Given the description of an element on the screen output the (x, y) to click on. 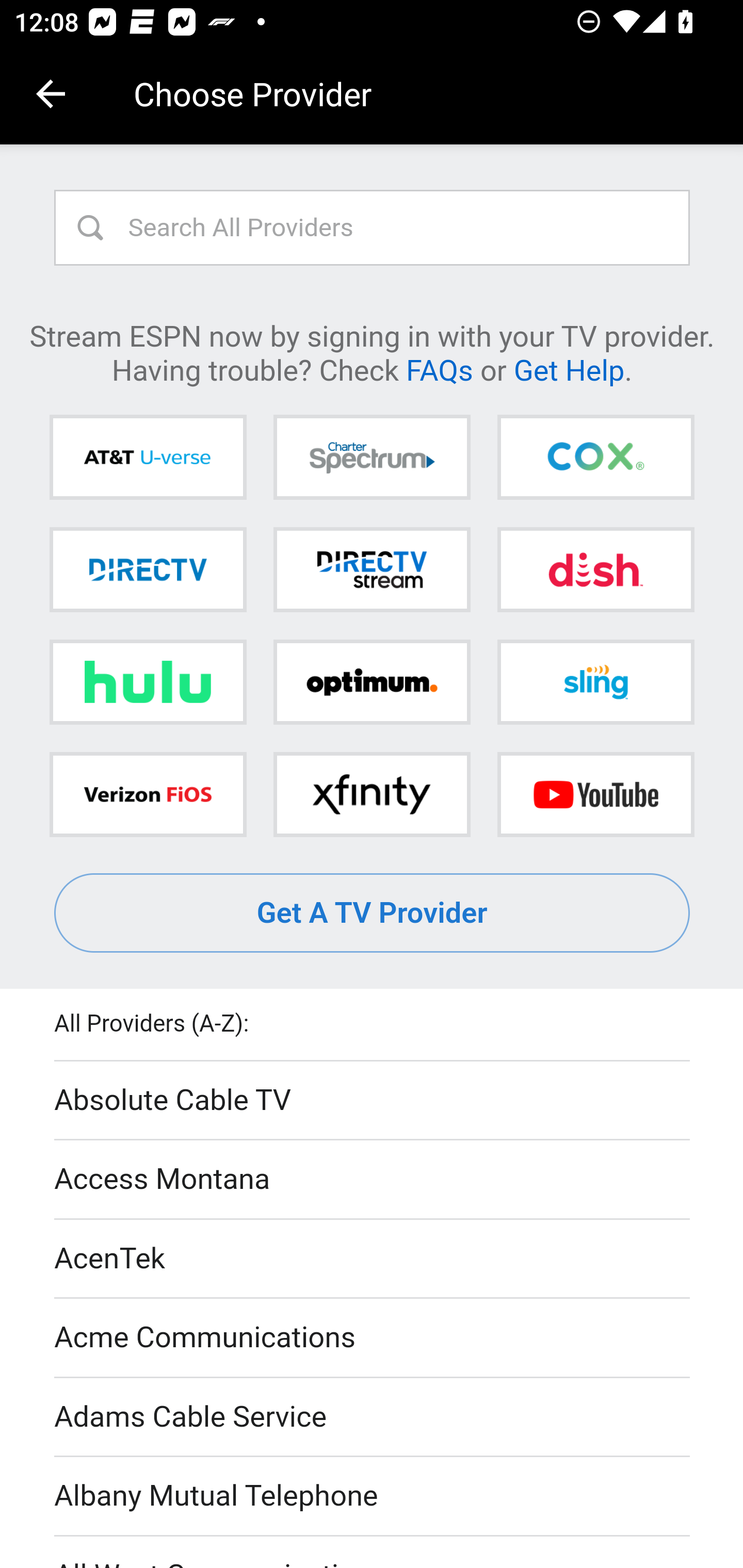
Navigate up (50, 93)
FAQs (438, 369)
Get Help (569, 369)
AT&T U-verse (147, 457)
Charter Spectrum (371, 457)
Cox (595, 457)
DIRECTV (147, 568)
DIRECTV STREAM (371, 568)
DISH (595, 568)
Hulu (147, 681)
Optimum (371, 681)
Sling TV (595, 681)
Verizon FiOS (147, 793)
Xfinity (371, 793)
YouTube TV (595, 793)
Get A TV Provider (372, 912)
Absolute Cable TV (372, 1100)
Access Montana (372, 1178)
AcenTek (372, 1258)
Acme Communications (372, 1338)
Adams Cable Service (372, 1417)
Albany Mutual Telephone (372, 1497)
